Given the description of an element on the screen output the (x, y) to click on. 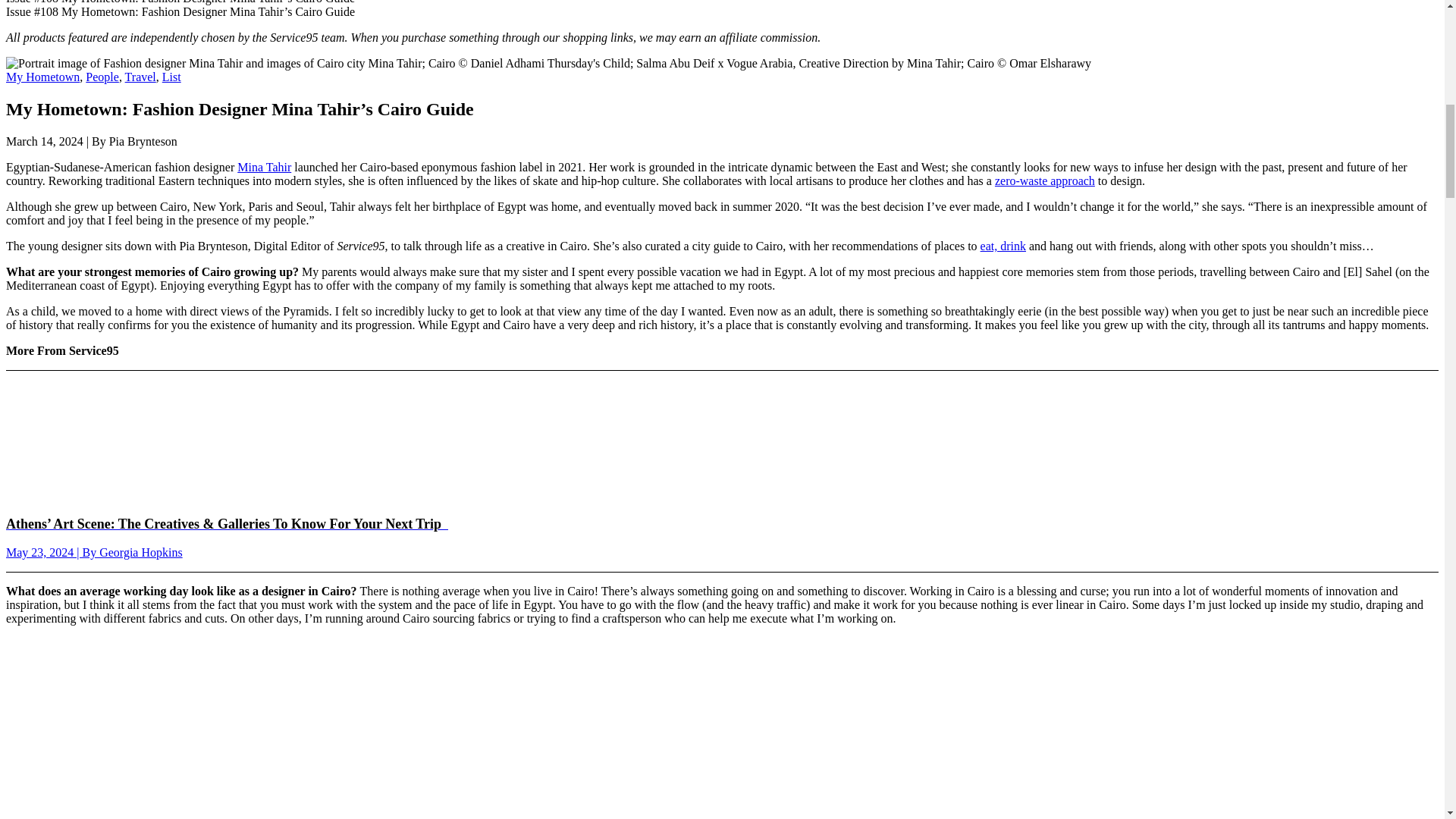
eat, drink (1002, 245)
Mina Tahir (264, 166)
Travel (140, 76)
My Hometown (42, 76)
List (170, 76)
zero-waste approach (1044, 180)
People (102, 76)
